Given the description of an element on the screen output the (x, y) to click on. 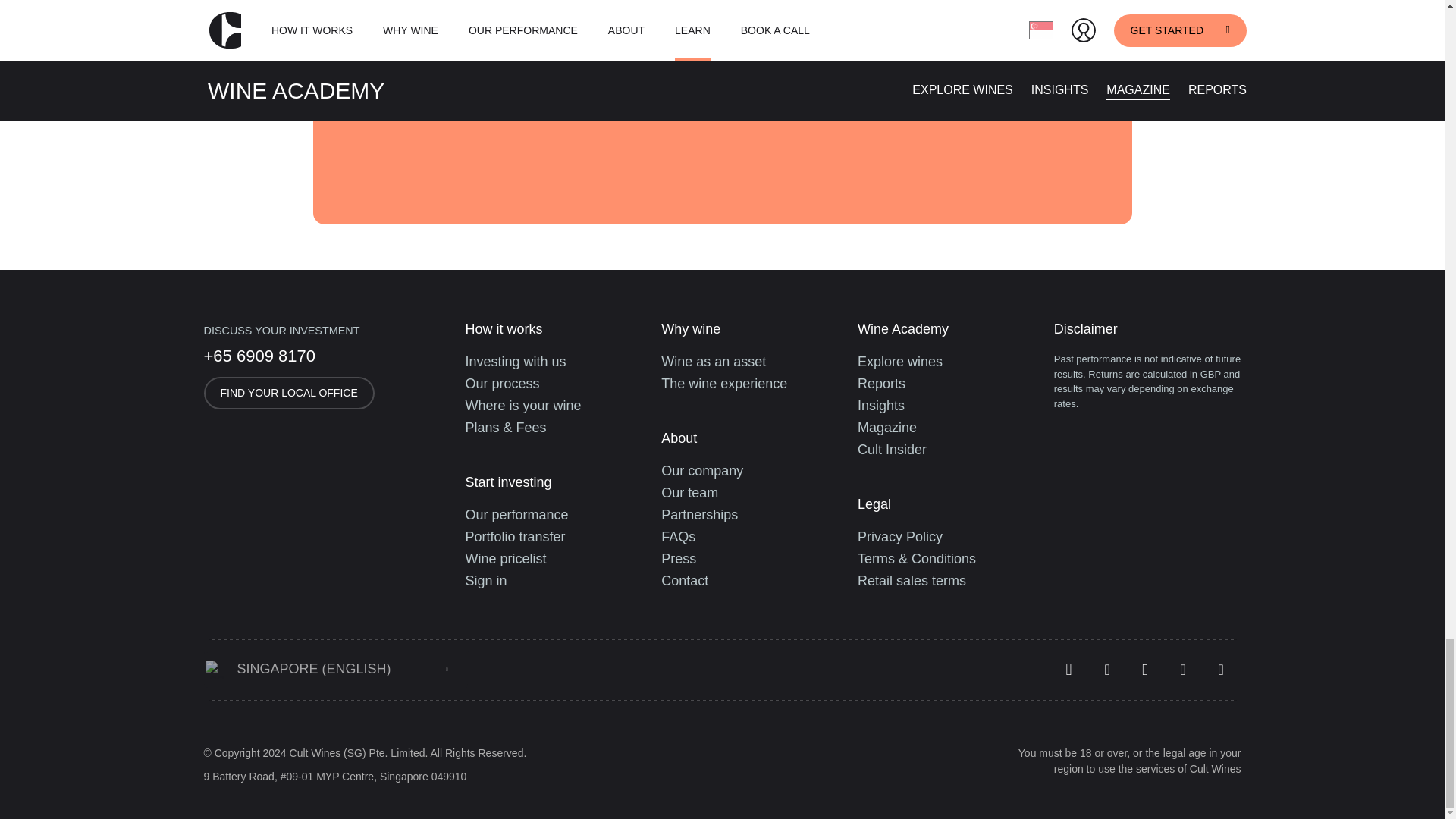
Form 0 (812, 89)
